Given the description of an element on the screen output the (x, y) to click on. 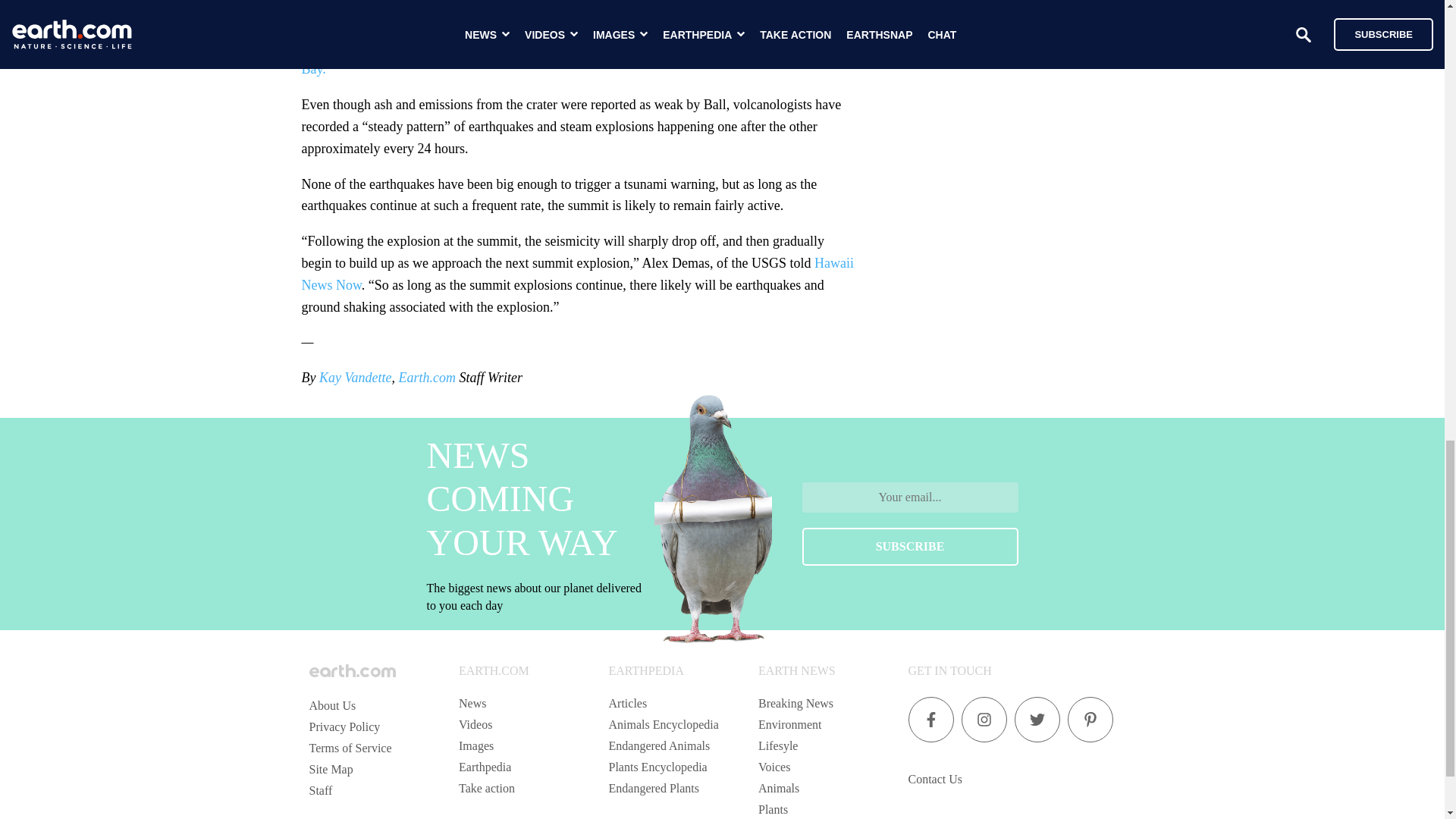
new land in Kapaho Bay. (574, 58)
Earth.com (426, 377)
Hawaii News Now (577, 273)
Kay Vandette (353, 377)
